Given the description of an element on the screen output the (x, y) to click on. 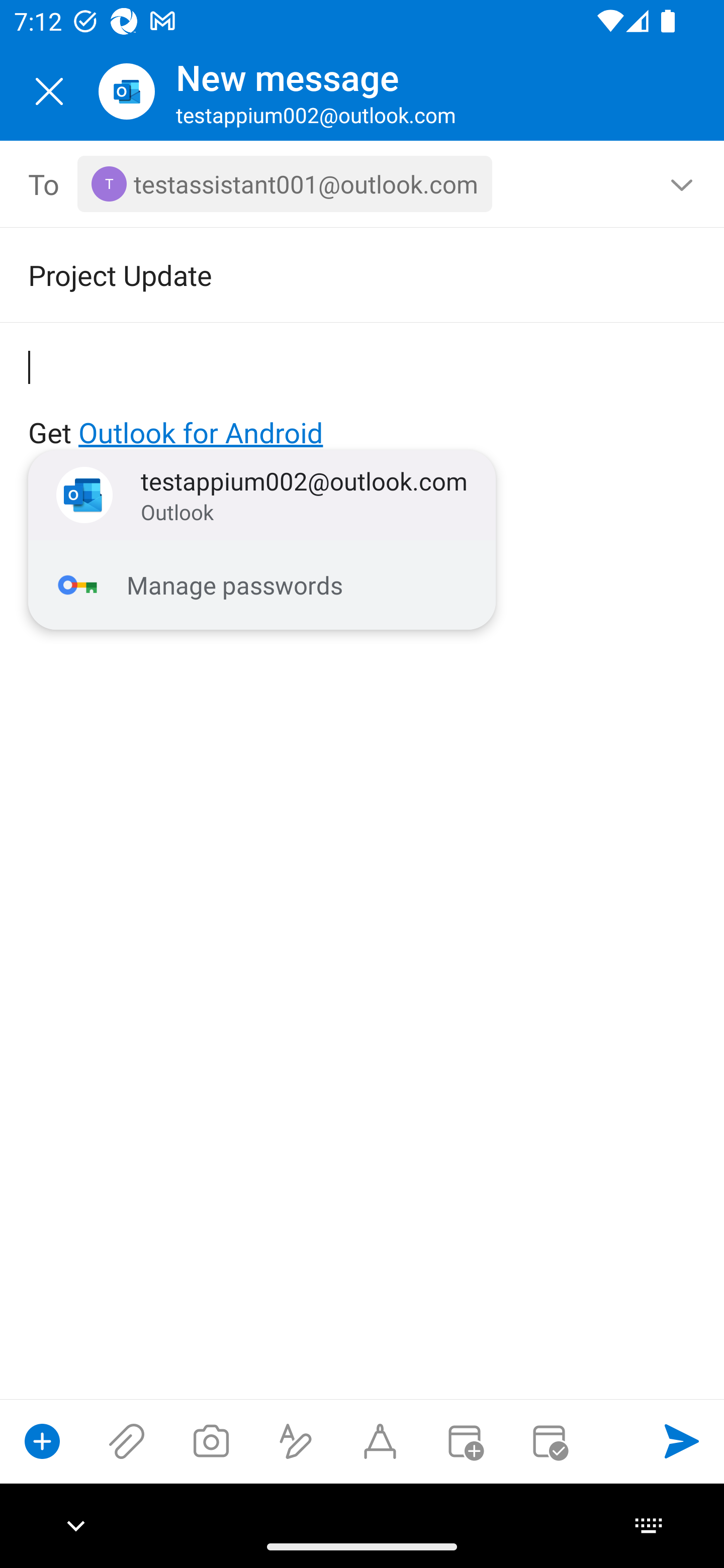
Outlook testappium002@outlook.com Outlook (261, 495)
Google Password Manager Manage passwords (261, 585)
